Given the description of an element on the screen output the (x, y) to click on. 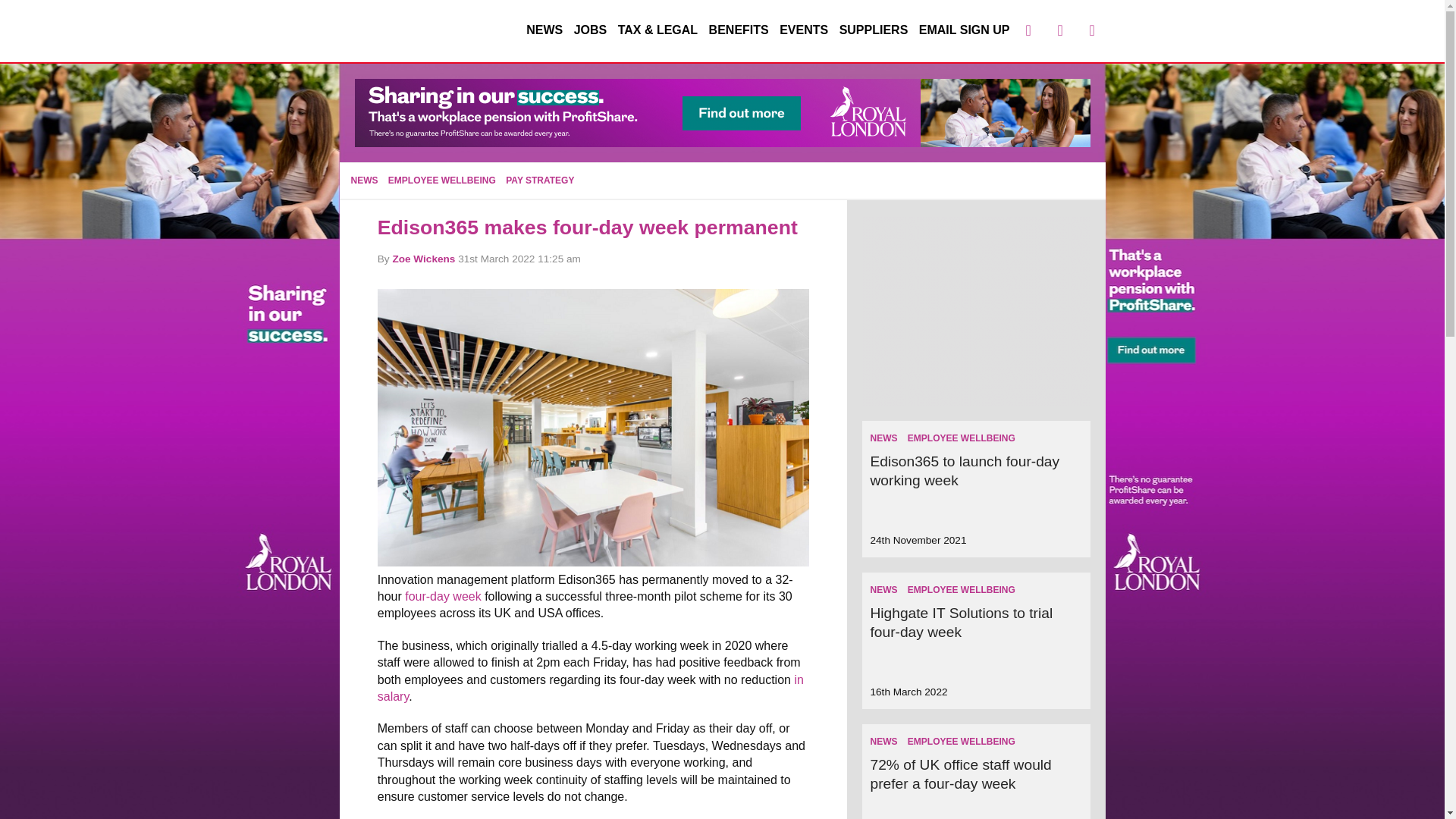
Edison365 to launch four-day working week (964, 470)
NEWS (543, 29)
in salary (590, 687)
four-day week (442, 595)
NEWS (882, 741)
BENEFITS (738, 29)
EMPLOYEE WELLBEING (960, 741)
Posts by Zoe Wickens (422, 258)
NEWS (882, 589)
EMPLOYEE WELLBEING (442, 180)
Highgate IT Solutions to trial four-day week (960, 622)
EMAIL SIGN UP (964, 29)
SUPPLIERS (874, 29)
EMPLOYEE WELLBEING (960, 589)
EVENTS (803, 29)
